Given the description of an element on the screen output the (x, y) to click on. 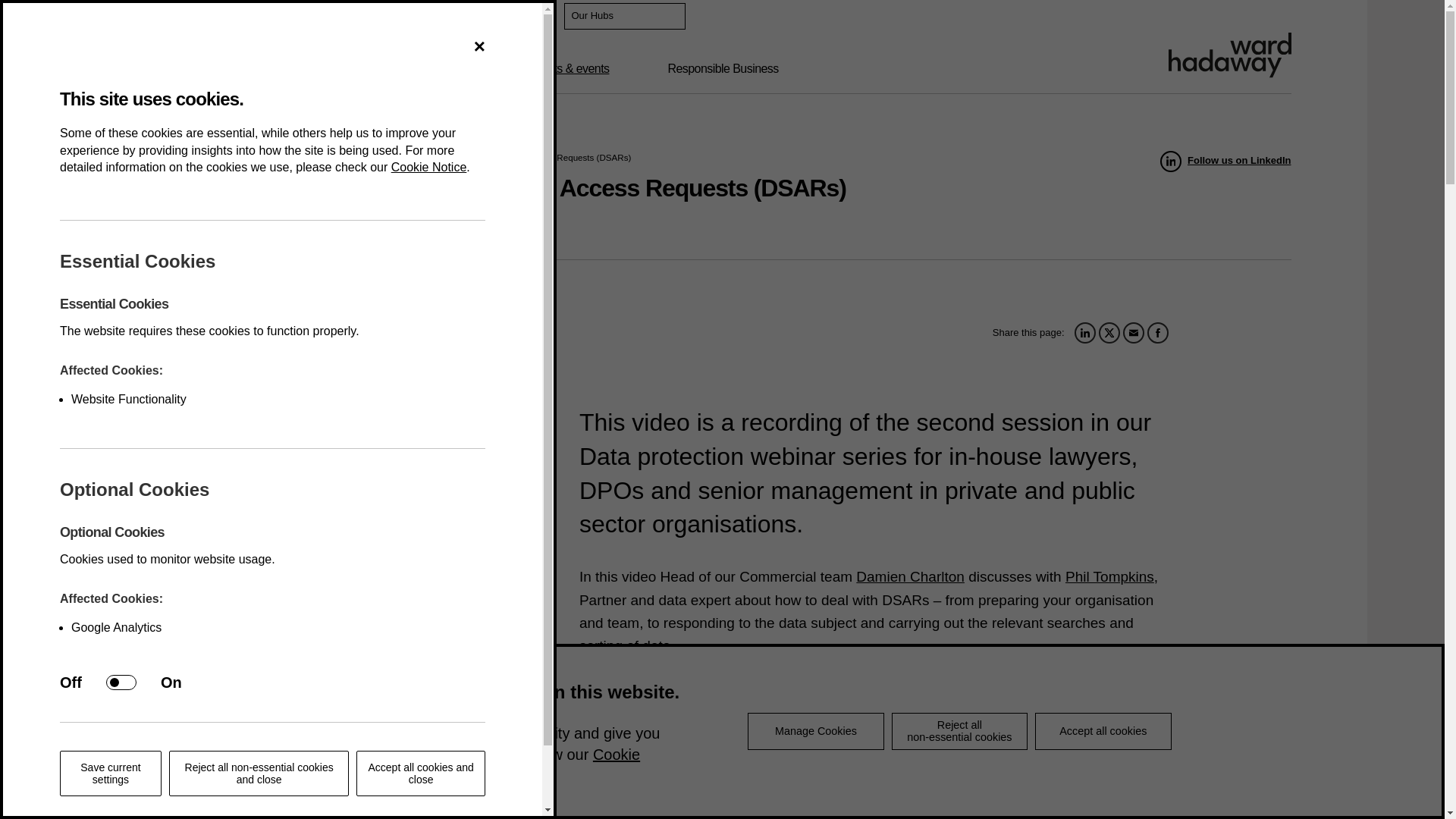
Share this article on LinkedIn (1084, 332)
Get in touch (305, 16)
Return to the Ward Hadaway homepage (1228, 54)
Follow Ward Hadaway on LinkedIn (1225, 160)
Follow Ward Hadaway on Twitter (505, 16)
Get in touch (305, 16)
Join us (222, 16)
Video and Podcasts (319, 157)
Connect with Ward Hadaway on LinkedIn (473, 16)
Follow us on LinkedIn (1225, 160)
Accessibility (399, 16)
Home (164, 157)
Who we are (202, 68)
Join us (222, 16)
What we do (321, 68)
